Given the description of an element on the screen output the (x, y) to click on. 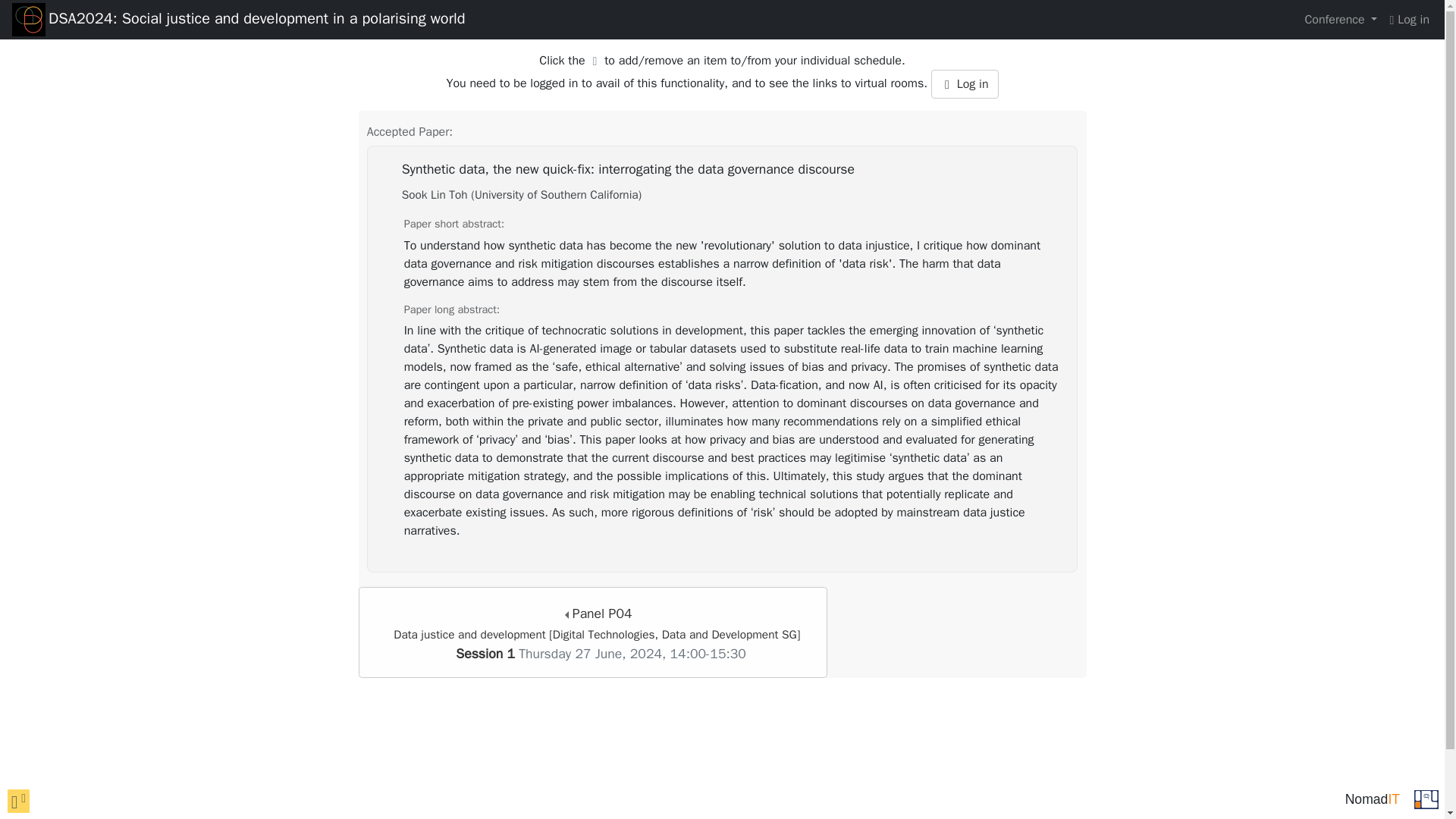
Log in (964, 83)
login (1409, 19)
Log in (964, 83)
Author (521, 194)
 Log in (1409, 19)
All conferences (1425, 798)
NomadIT (1371, 799)
Conference (1340, 19)
click to toggle popover (17, 800)
